Given the description of an element on the screen output the (x, y) to click on. 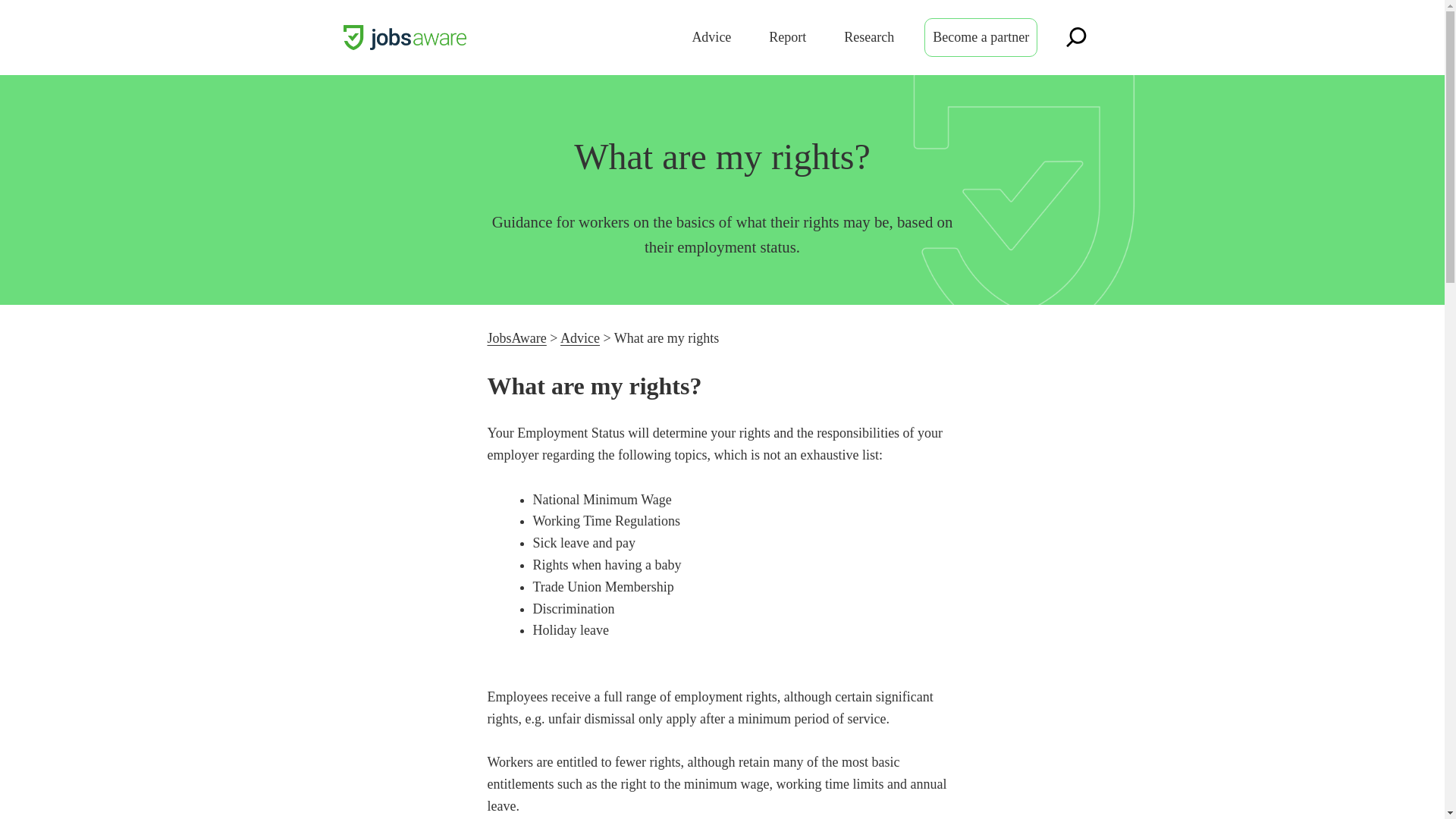
Research (868, 37)
Go to JobsAware. (516, 337)
Advice (579, 337)
Go to Advice. (579, 337)
JobsAware (516, 337)
Advice (710, 37)
Become a partner (981, 37)
Report (787, 37)
